Given the description of an element on the screen output the (x, y) to click on. 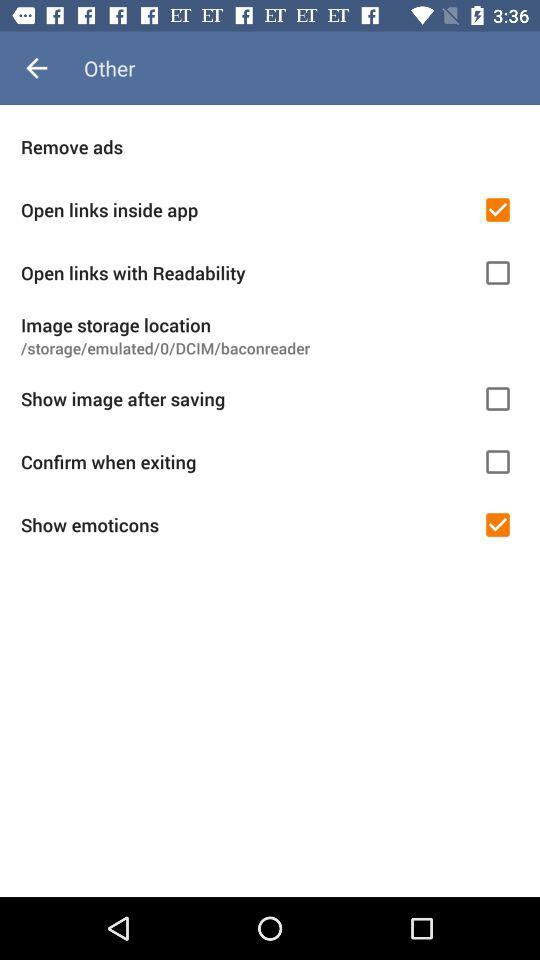
open the icon below show image after item (245, 461)
